Given the description of an element on the screen output the (x, y) to click on. 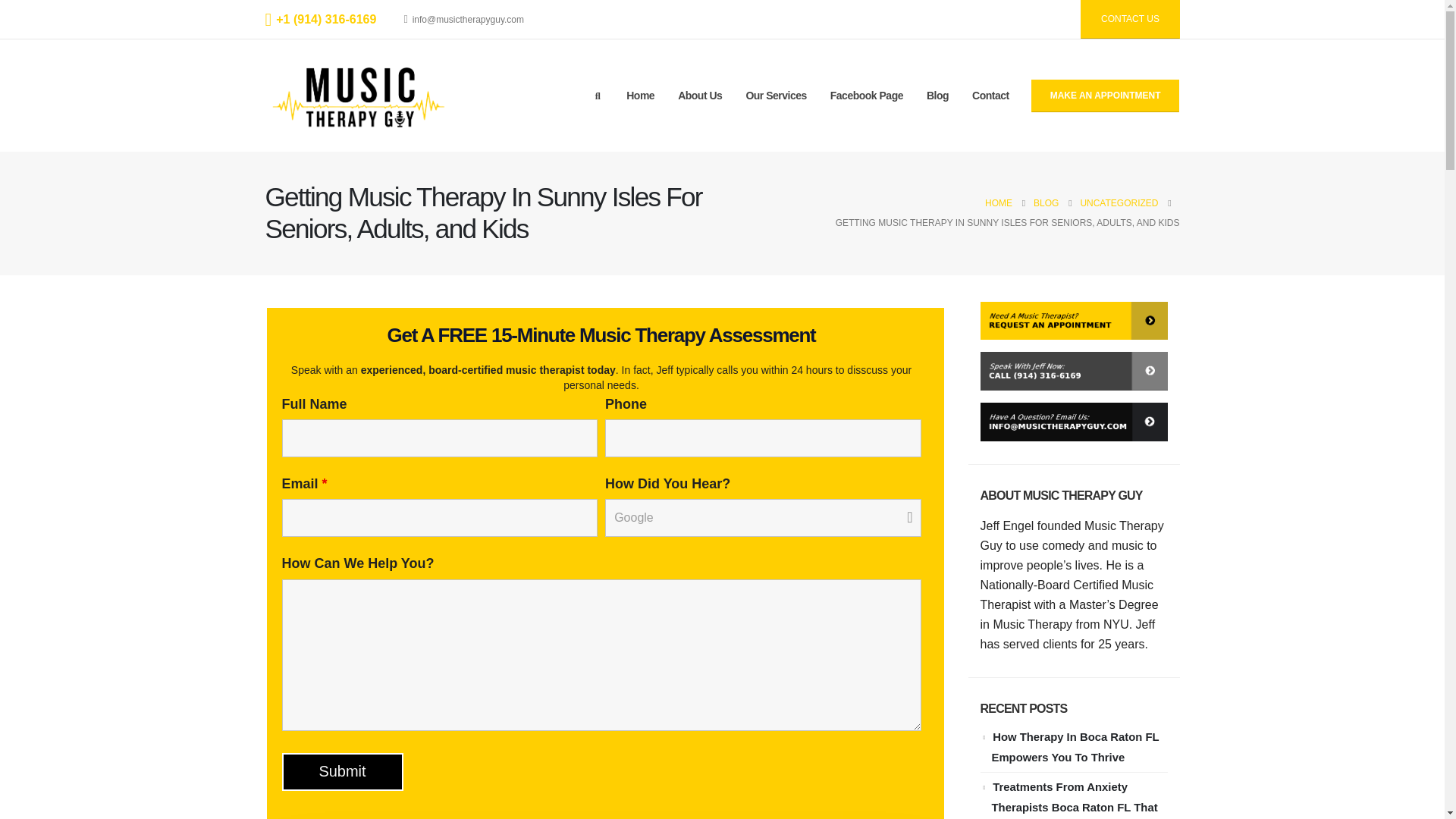
Music Therapy Guy - Music Therapist In Florida (359, 95)
Our Services (774, 95)
How Therapy In Boca Raton FL Empowers You To Thrive (1074, 747)
MAKE AN APPOINTMENT (1104, 95)
UNCATEGORIZED (1118, 202)
Facebook Page (866, 95)
Submit (342, 771)
HOME (998, 202)
Go to Home Page (998, 202)
BLOG (1045, 202)
CONTACT US (1129, 19)
